Given the description of an element on the screen output the (x, y) to click on. 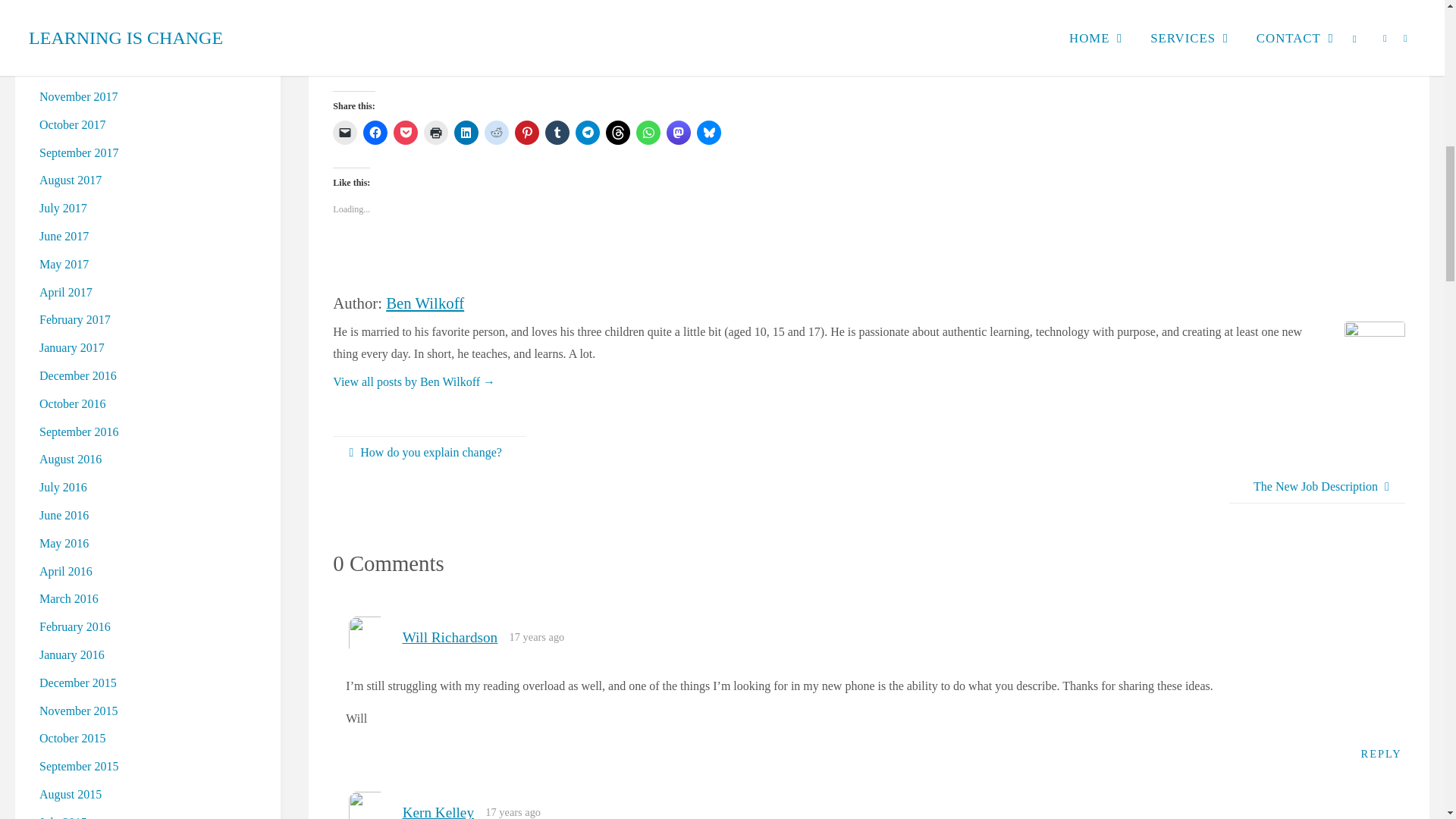
Click to share on Reddit (496, 132)
Click to print (435, 132)
Click to share on Pinterest (526, 132)
Click to share on Tumblr (556, 132)
Click to share on Facebook (374, 132)
Click to email a link to a friend (344, 132)
Click to share on Pocket (405, 132)
Click to share on Threads (617, 132)
Click to share on LinkedIn (466, 132)
Click to share on Telegram (587, 132)
